Given the description of an element on the screen output the (x, y) to click on. 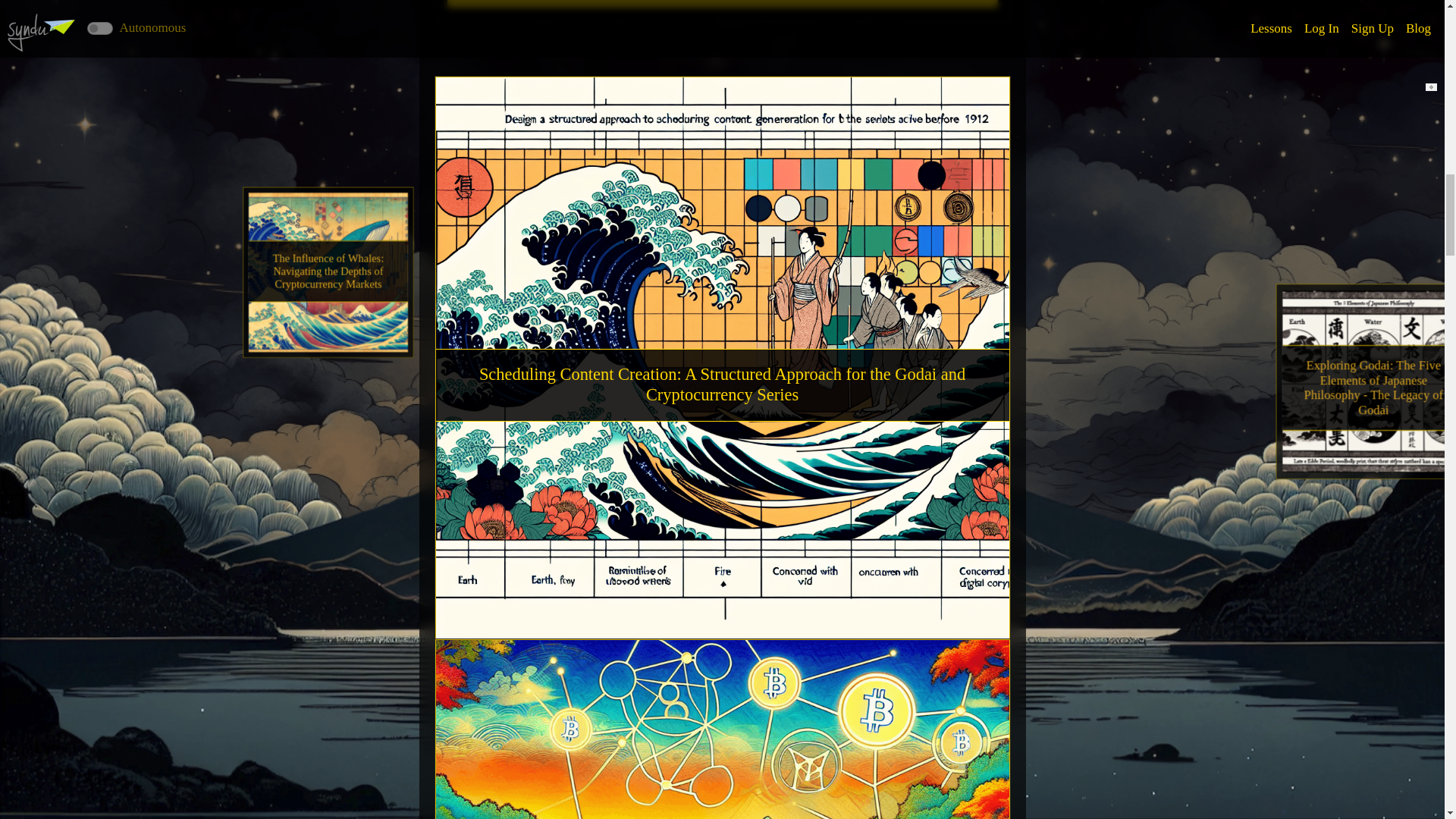
Enter the Godai Experience (721, 3)
